Given the description of an element on the screen output the (x, y) to click on. 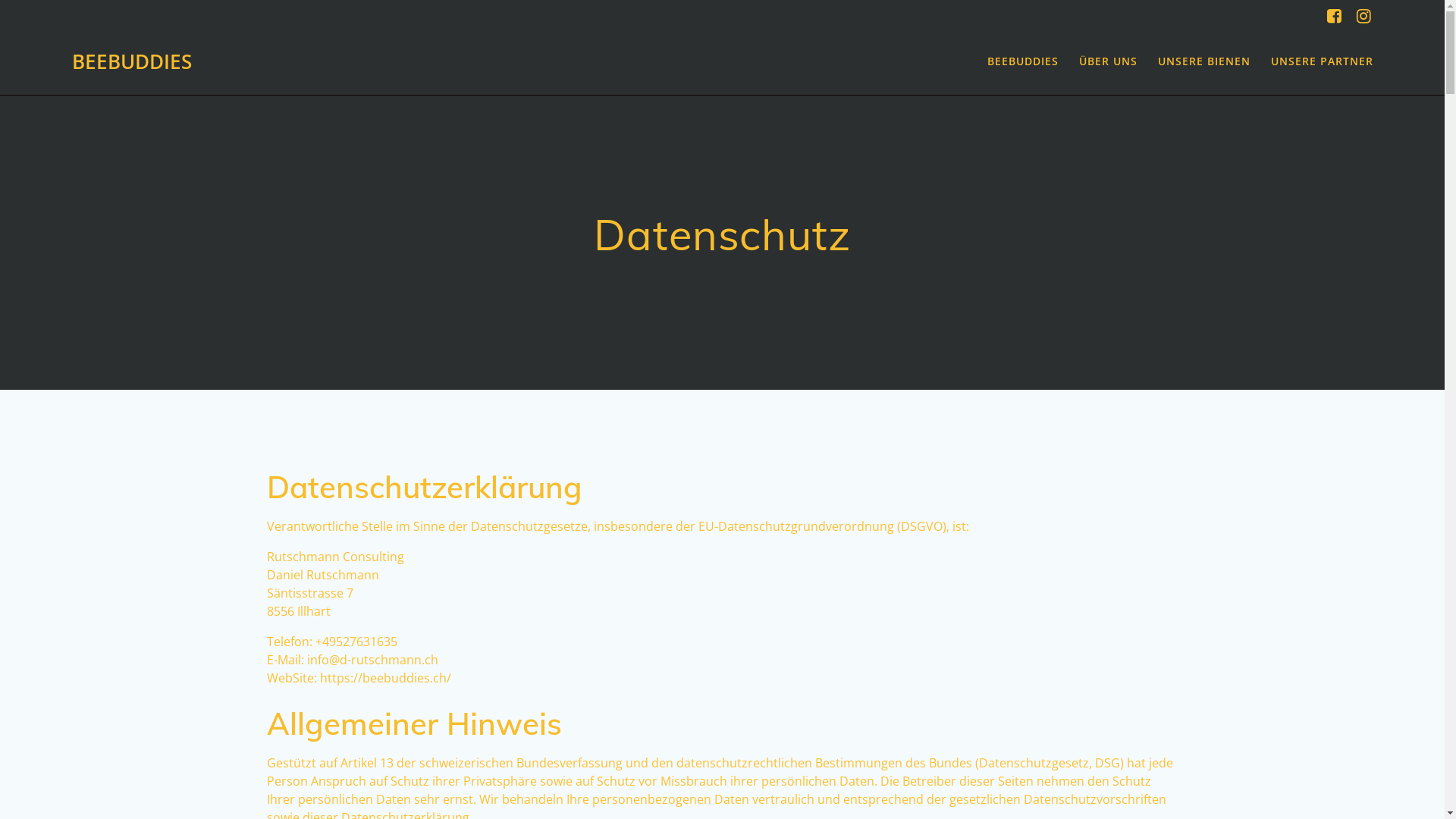
BEEBUDDIES Element type: text (131, 62)
UNSERE BIENEN Element type: text (1203, 62)
UNSERE PARTNER Element type: text (1321, 62)
BEEBUDDIES Element type: text (1022, 62)
